Given the description of an element on the screen output the (x, y) to click on. 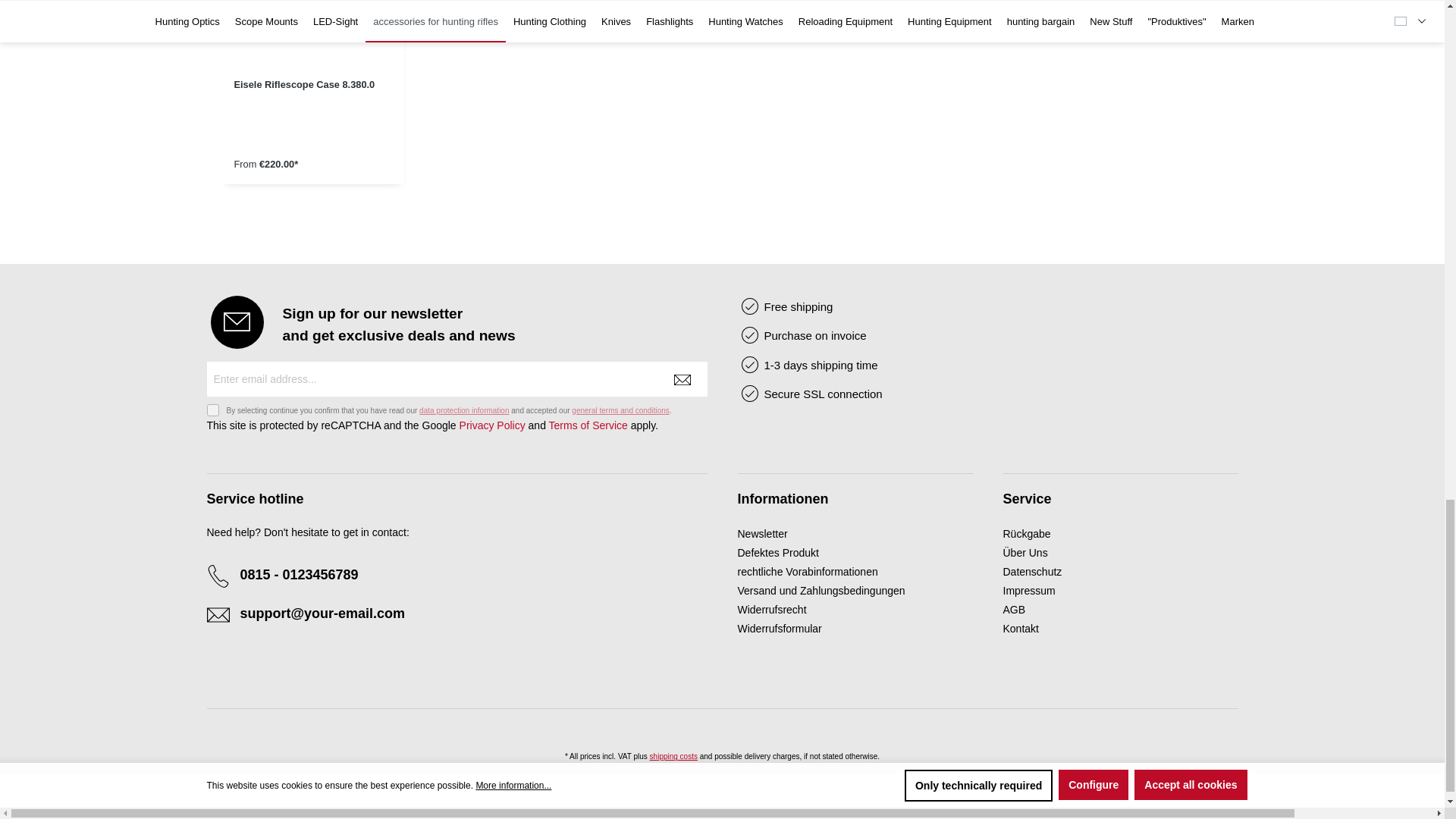
on (212, 410)
